Given the description of an element on the screen output the (x, y) to click on. 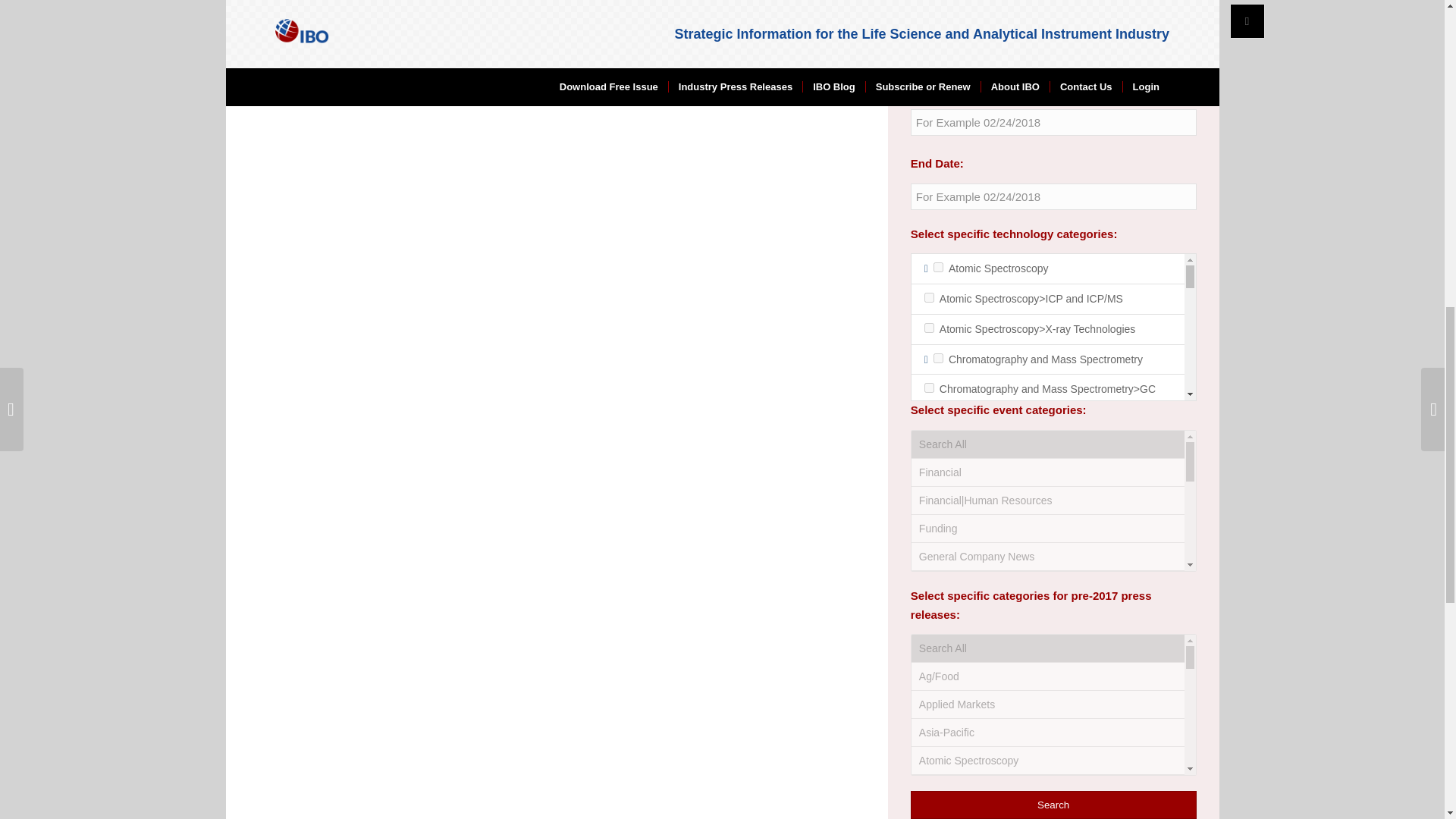
general-laboratory-productsconsumables (929, 723)
chromatography-and-mass-spectrometryother-chromatography (929, 546)
chromatography-and-mass-spectrometrylc (929, 515)
chromatography-and-mass-spectrometrygc (929, 388)
atomic-spectroscopyicp-and-icp-ms (929, 297)
atomic-spectroscopyx-ray-technologies (929, 327)
